Given the description of an element on the screen output the (x, y) to click on. 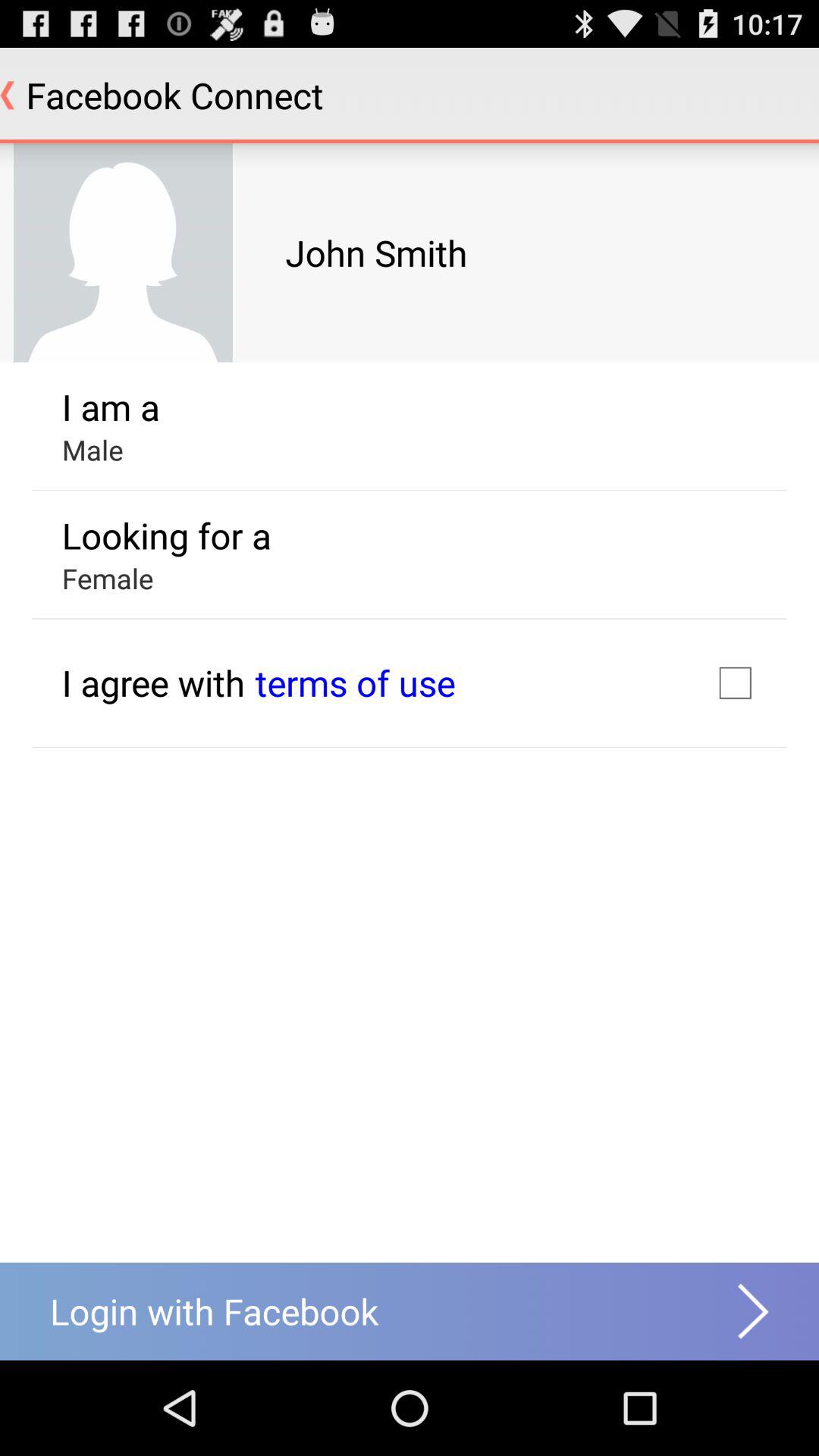
choose the item next to the terms of use icon (735, 682)
